Given the description of an element on the screen output the (x, y) to click on. 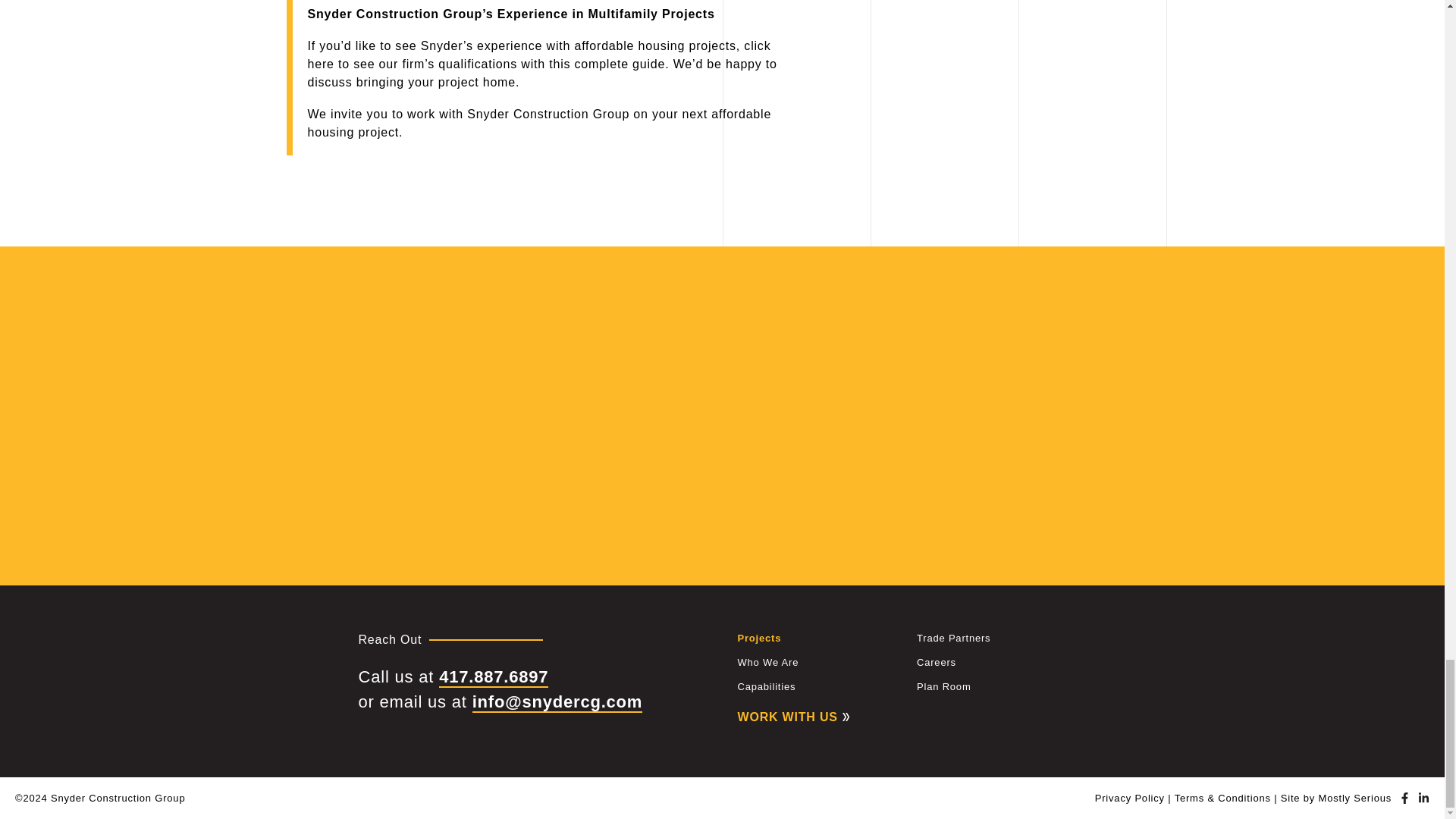
work with Snyder Construction Group (517, 113)
Plan Room (944, 686)
Mostly Serious (1355, 797)
Projects (758, 637)
Capabilities (765, 686)
Trade Partners (953, 637)
Facebook (1403, 797)
Privacy Policy (1129, 797)
click here (539, 54)
417.887.6897 (493, 677)
WORK WITH US (792, 717)
Careers (936, 662)
LinkedIn (1422, 797)
Who We Are (766, 662)
